Given the description of an element on the screen output the (x, y) to click on. 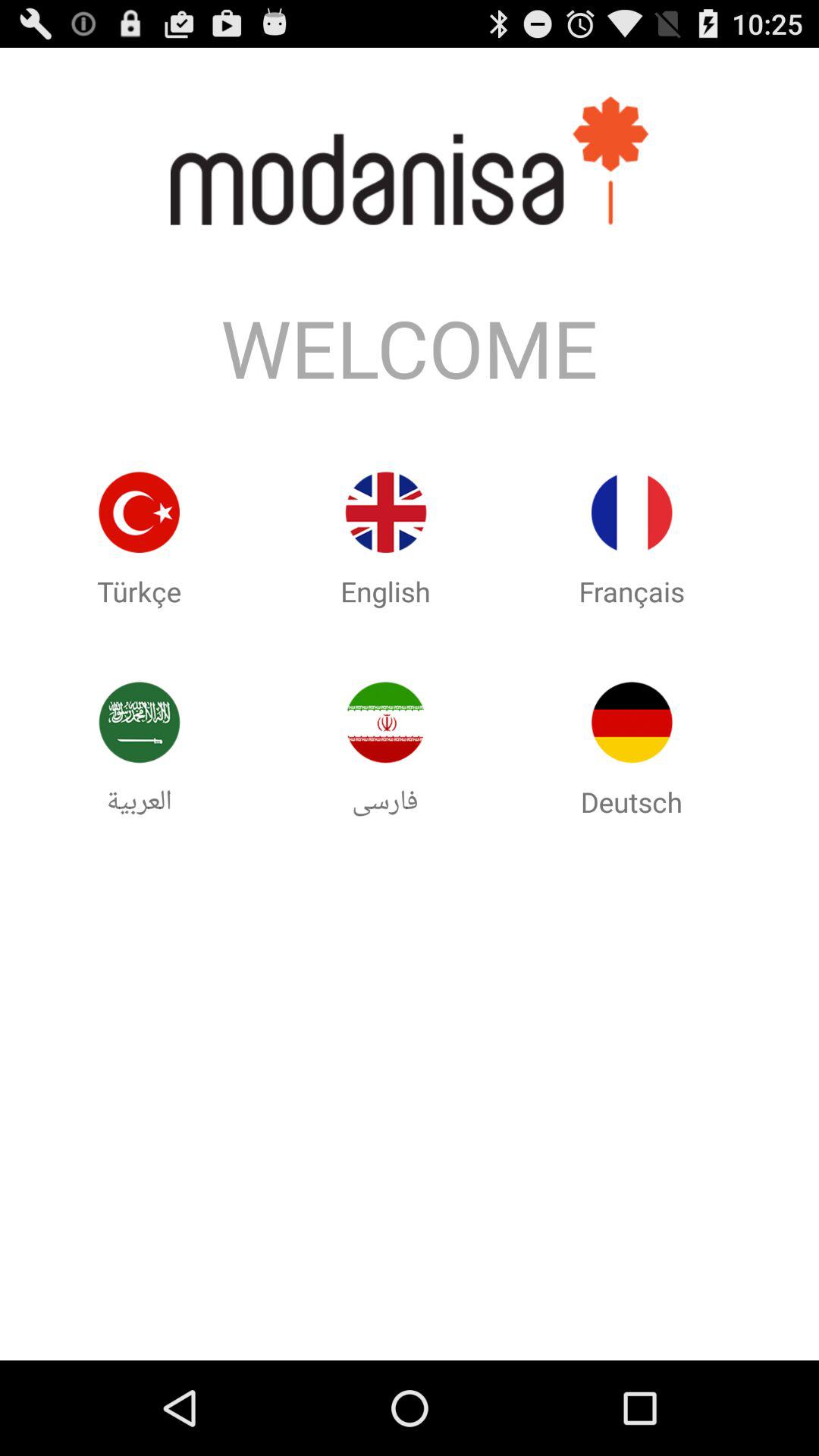
selects country (631, 512)
